Given the description of an element on the screen output the (x, y) to click on. 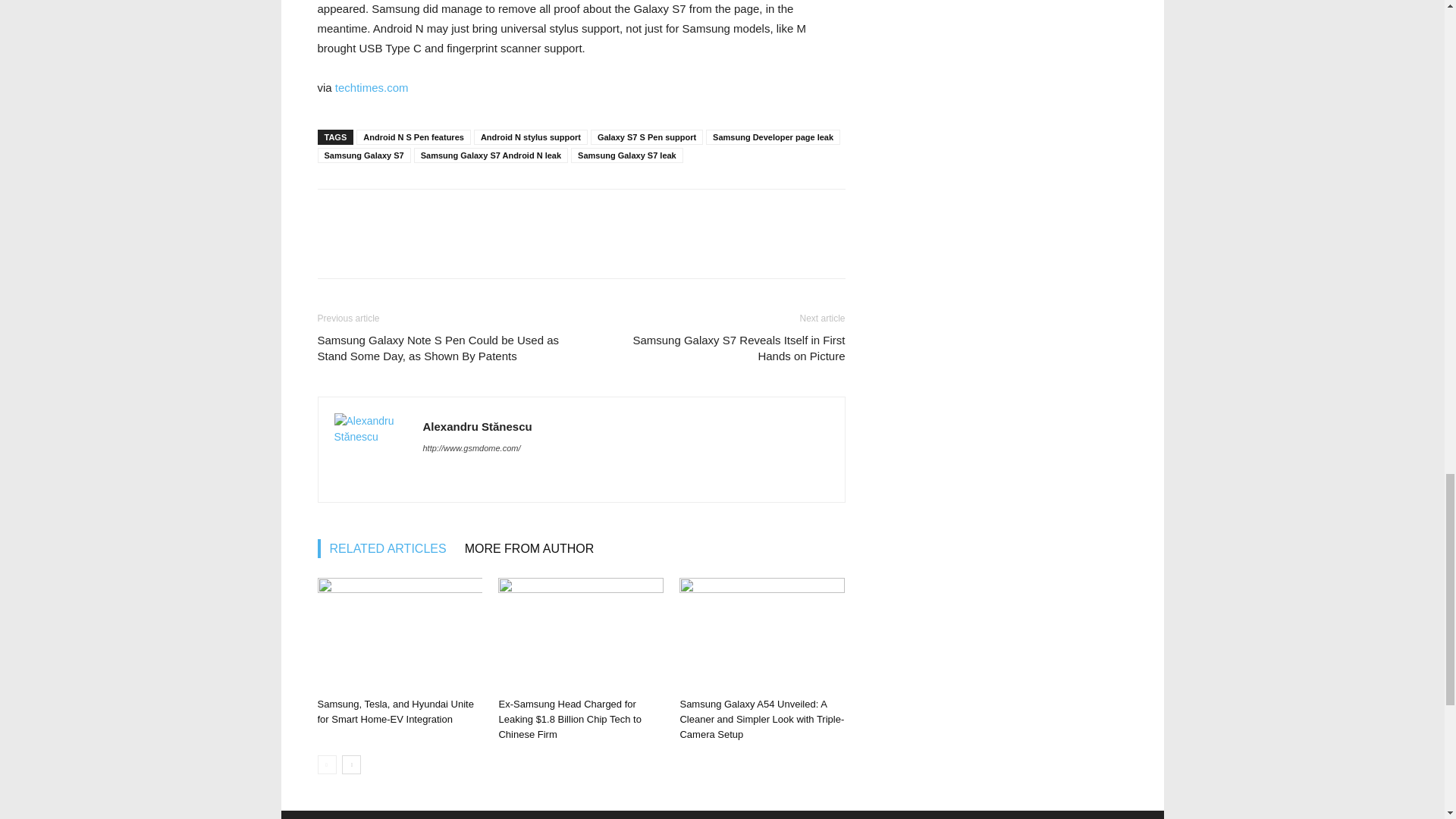
Android N S Pen features (413, 136)
techtimes.com (371, 87)
bottomFacebookLike (430, 213)
Android N stylus support (531, 136)
